Given the description of an element on the screen output the (x, y) to click on. 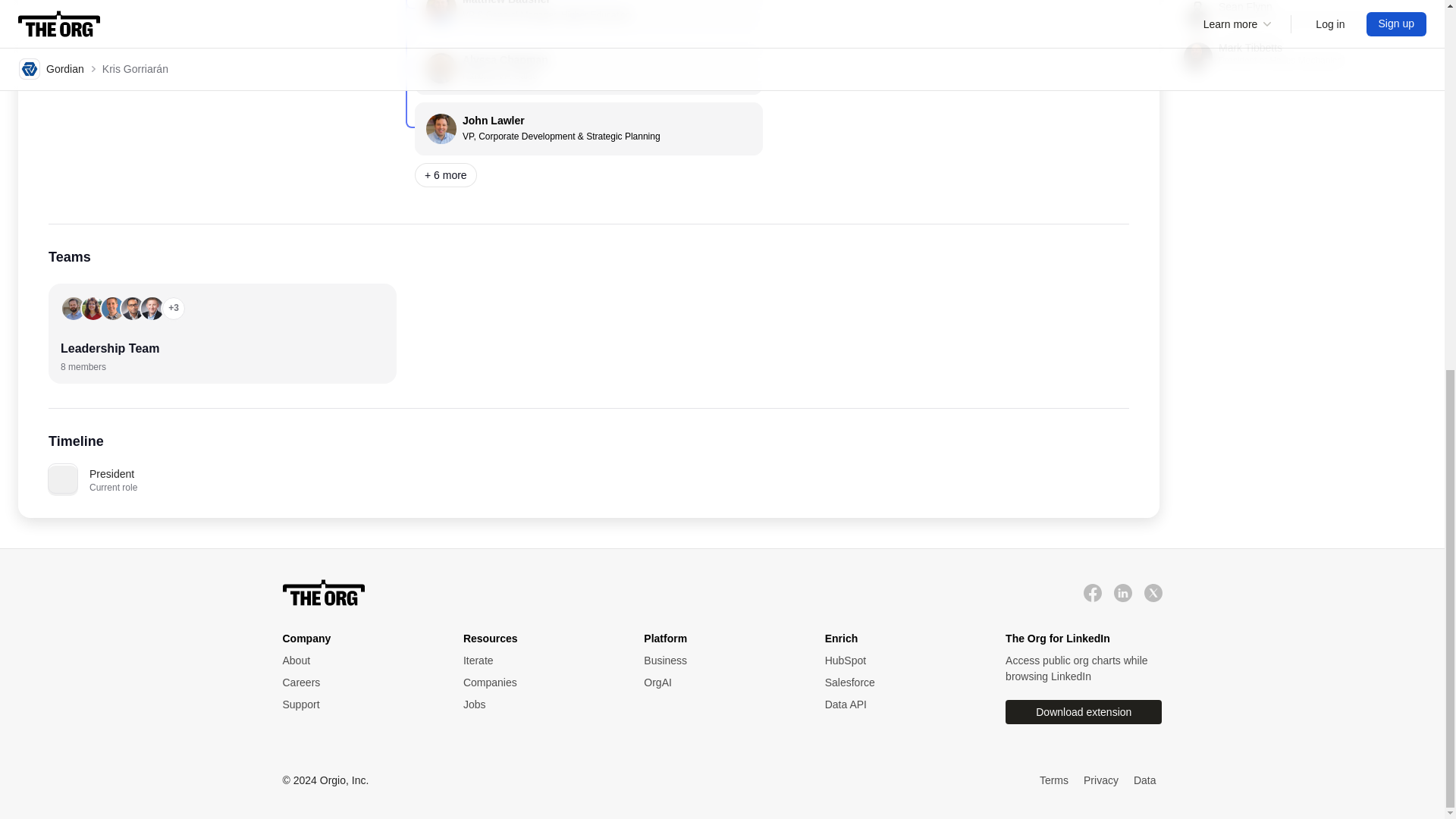
The Org logo (323, 592)
LinkedIn (1122, 592)
Support (357, 703)
Companies (1304, 56)
About (537, 682)
Companies (357, 659)
Careers (1304, 15)
Facebook (537, 682)
About (357, 682)
Iterate (1091, 592)
Iterate (357, 659)
Careers (537, 659)
